Given the description of an element on the screen output the (x, y) to click on. 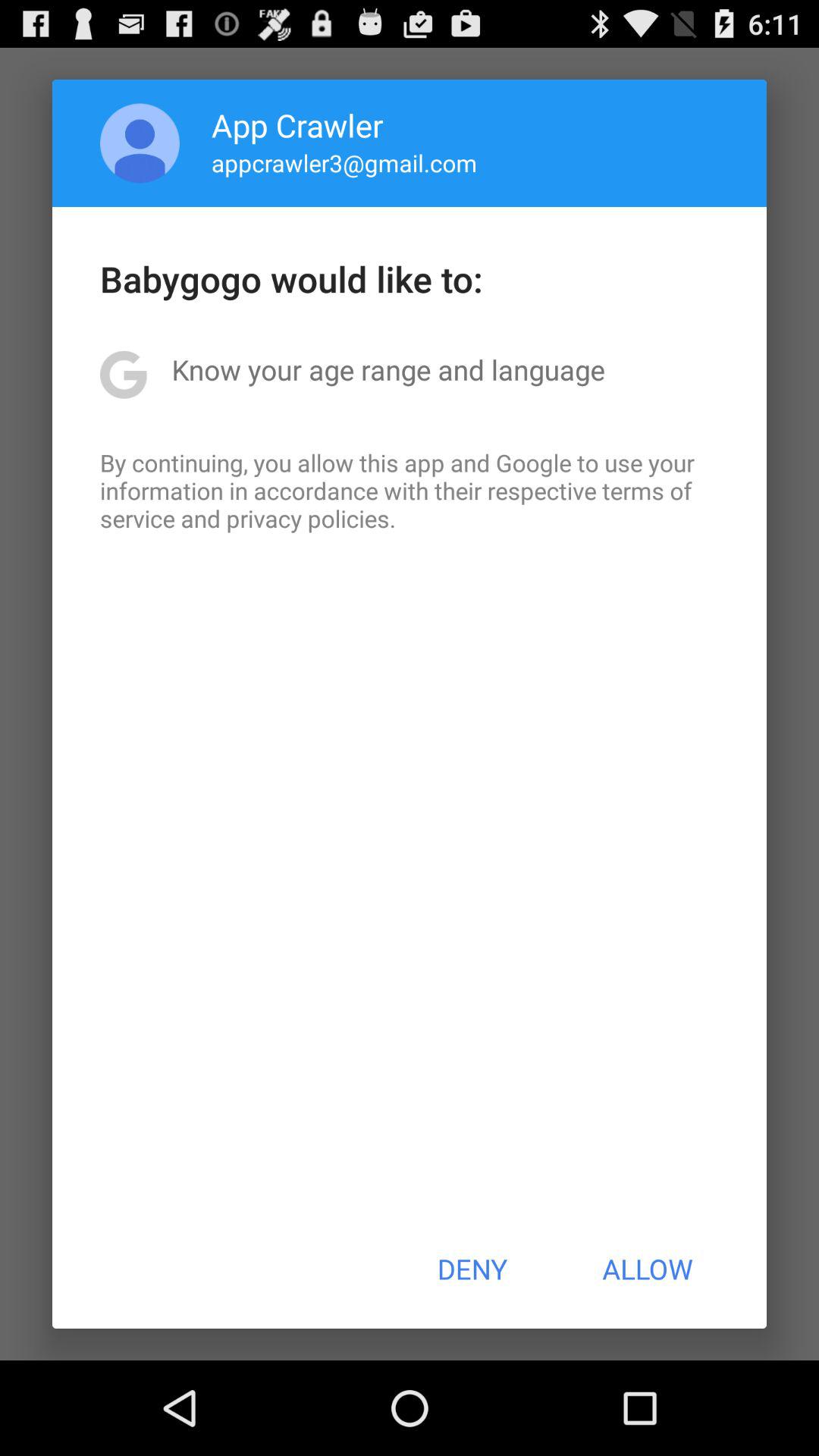
choose know your age app (388, 369)
